Given the description of an element on the screen output the (x, y) to click on. 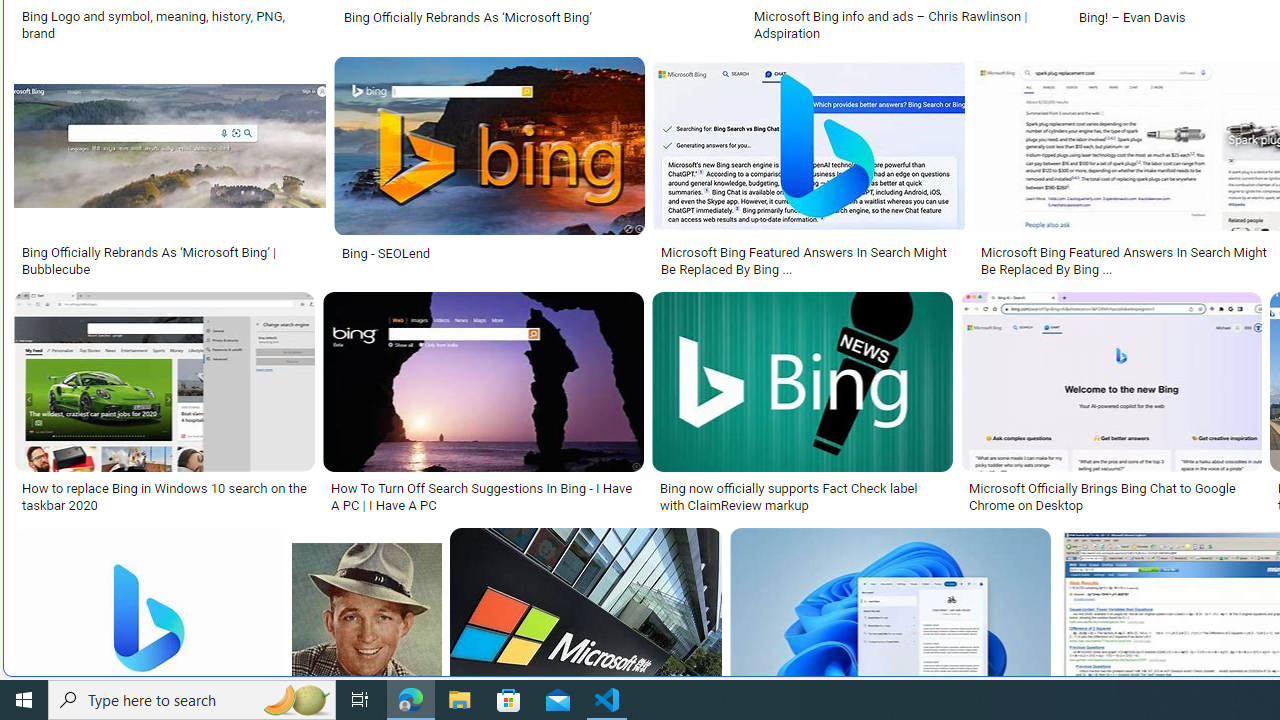
How to replace Bing in Windows 10 search on the taskbar 2020 (164, 497)
Bing - SEOLend (489, 253)
Bing - SEOLendSave (493, 169)
How to replace Bing in Windows 10 search on the taskbar 2020 (164, 497)
Bing - SEOLend (386, 253)
